Given the description of an element on the screen output the (x, y) to click on. 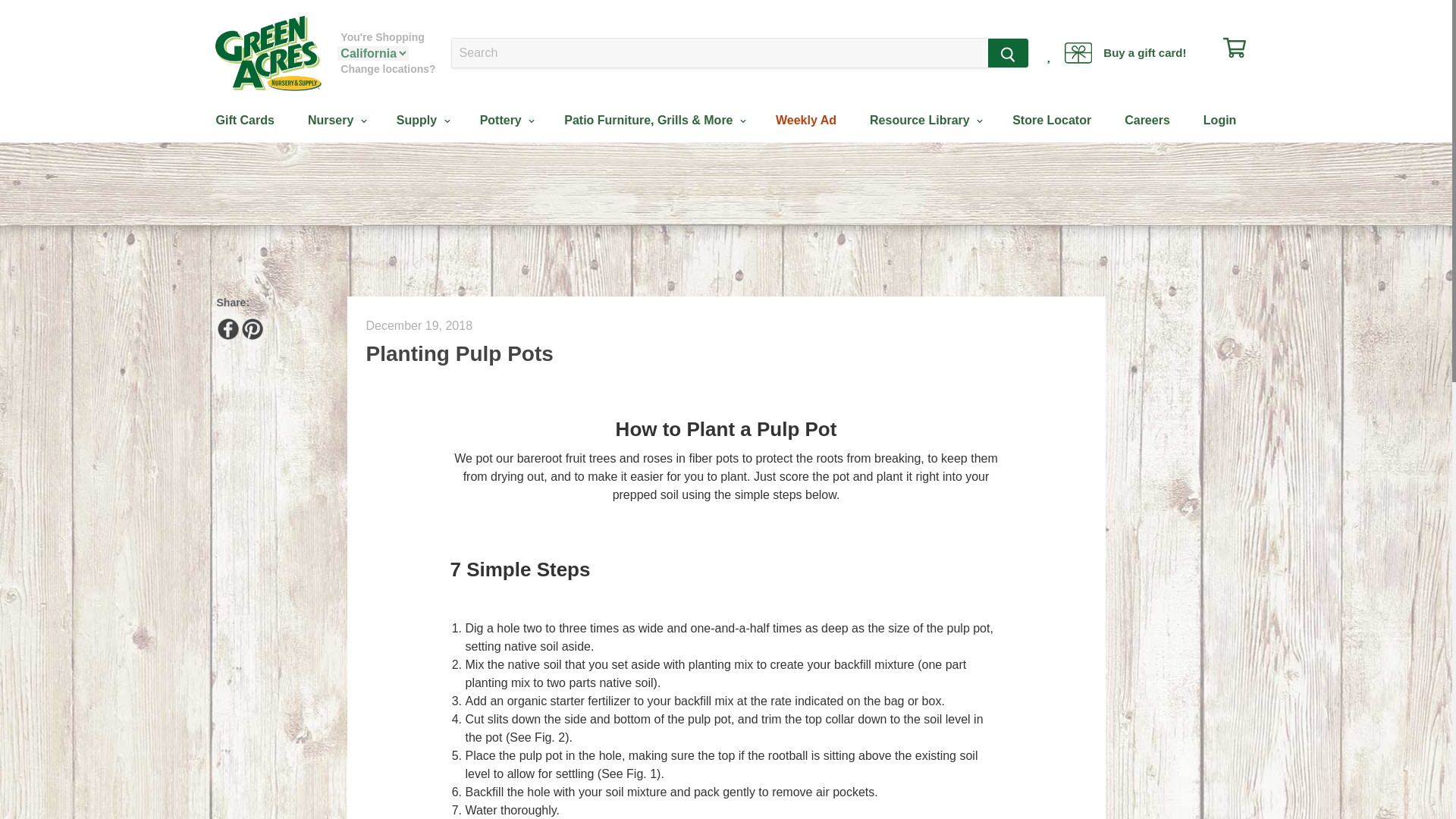
Nursery (335, 120)
Buy a gift card! (1125, 52)
Buy a gift card! (1125, 52)
Nursery (335, 120)
Gift Cards (244, 120)
Gift Cards (244, 120)
